Given the description of an element on the screen output the (x, y) to click on. 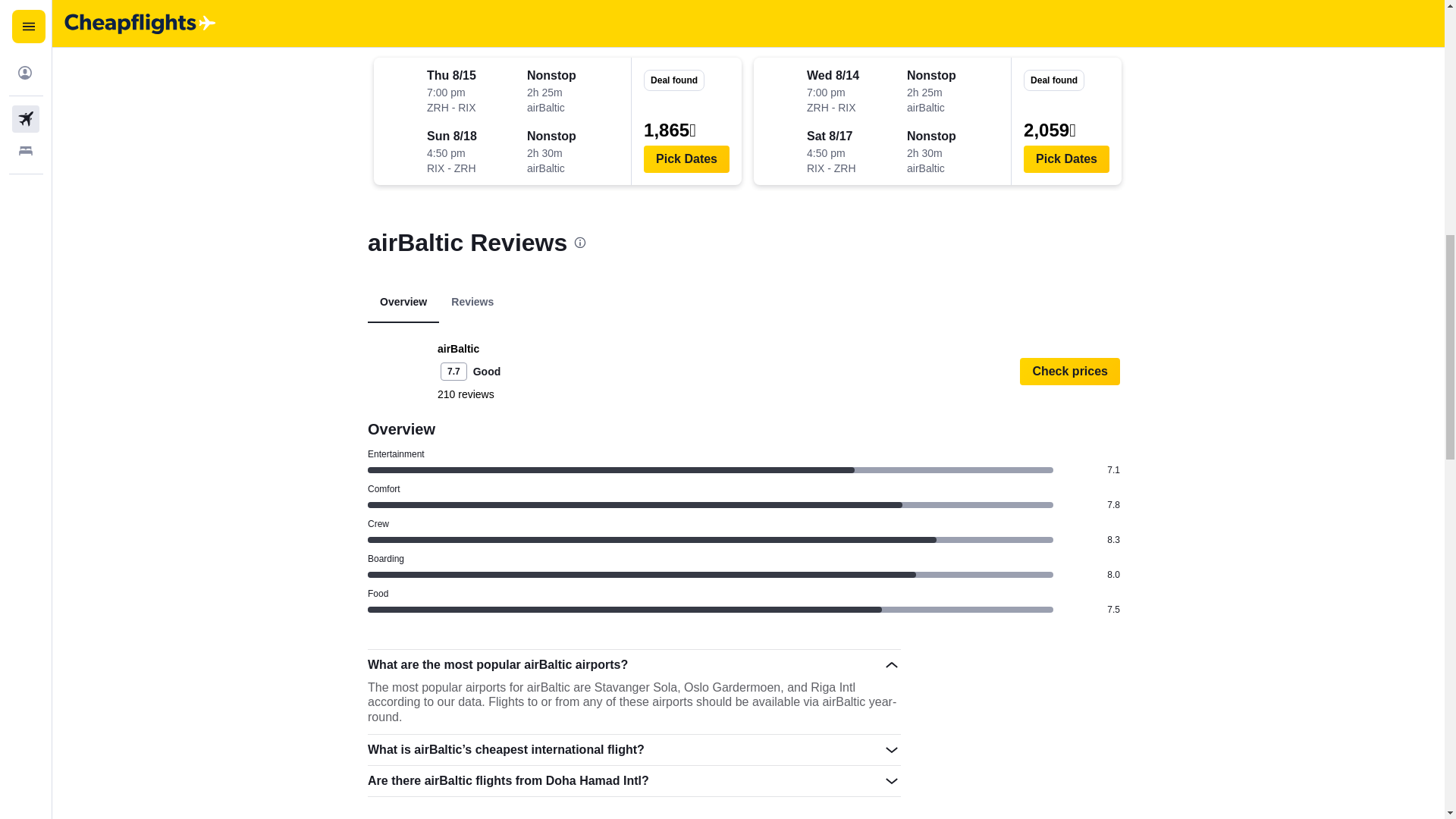
Pick Dates (1066, 158)
Check prices (1069, 370)
Reviews (472, 301)
Pick Dates (686, 158)
Overview (403, 301)
